Given the description of an element on the screen output the (x, y) to click on. 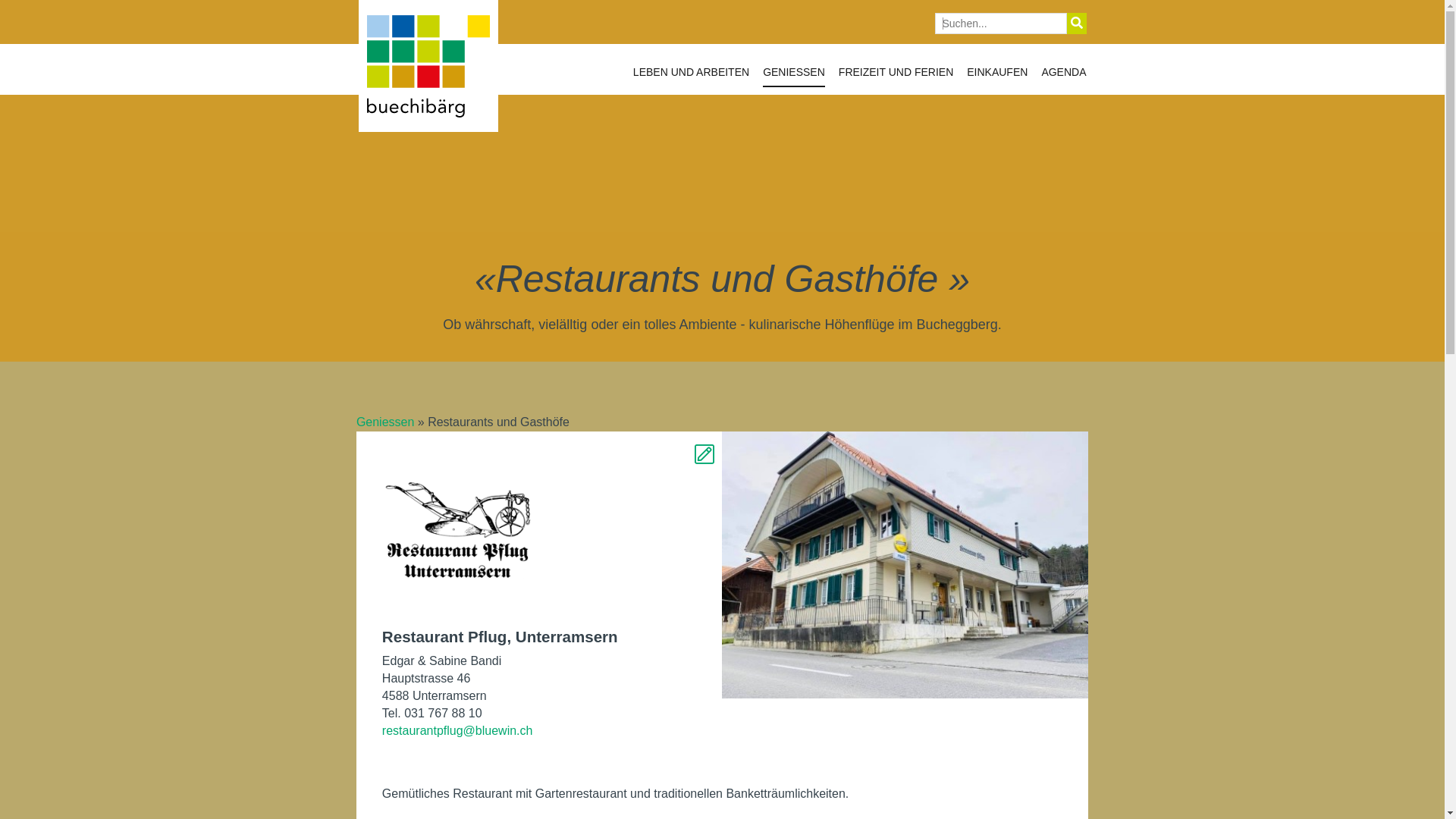
AGENDA Element type: text (1063, 75)
EINKAUFEN Element type: text (996, 75)
Geniessen Element type: text (385, 421)
FREIZEIT UND FERIEN Element type: text (895, 75)
LEBEN UND ARBEITEN Element type: text (691, 75)
GENIESSEN Element type: text (793, 75)
restaurantpflug@bluewin.ch Element type: text (539, 731)
